Given the description of an element on the screen output the (x, y) to click on. 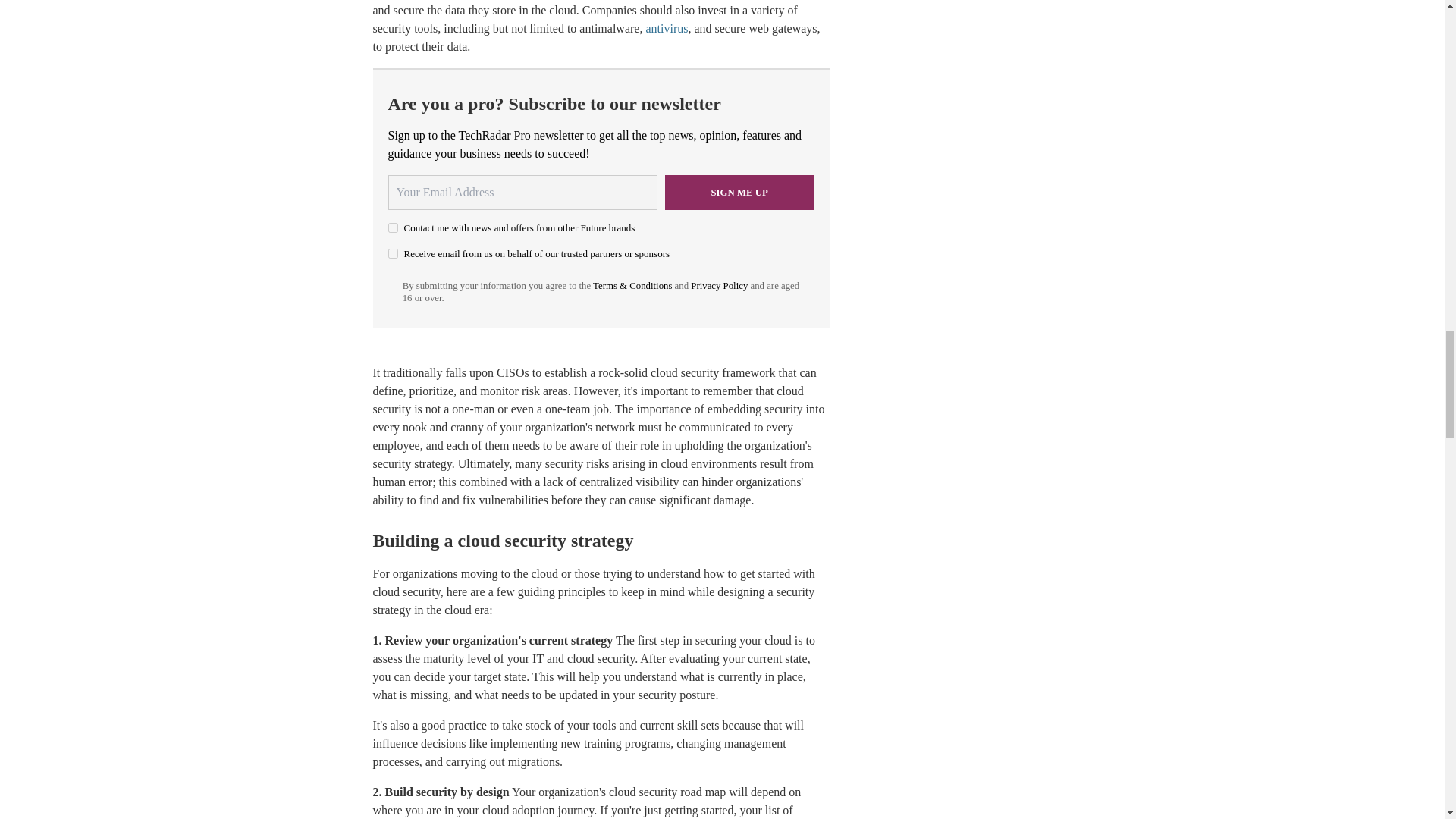
Sign me up (739, 192)
on (392, 227)
on (392, 253)
